Given the description of an element on the screen output the (x, y) to click on. 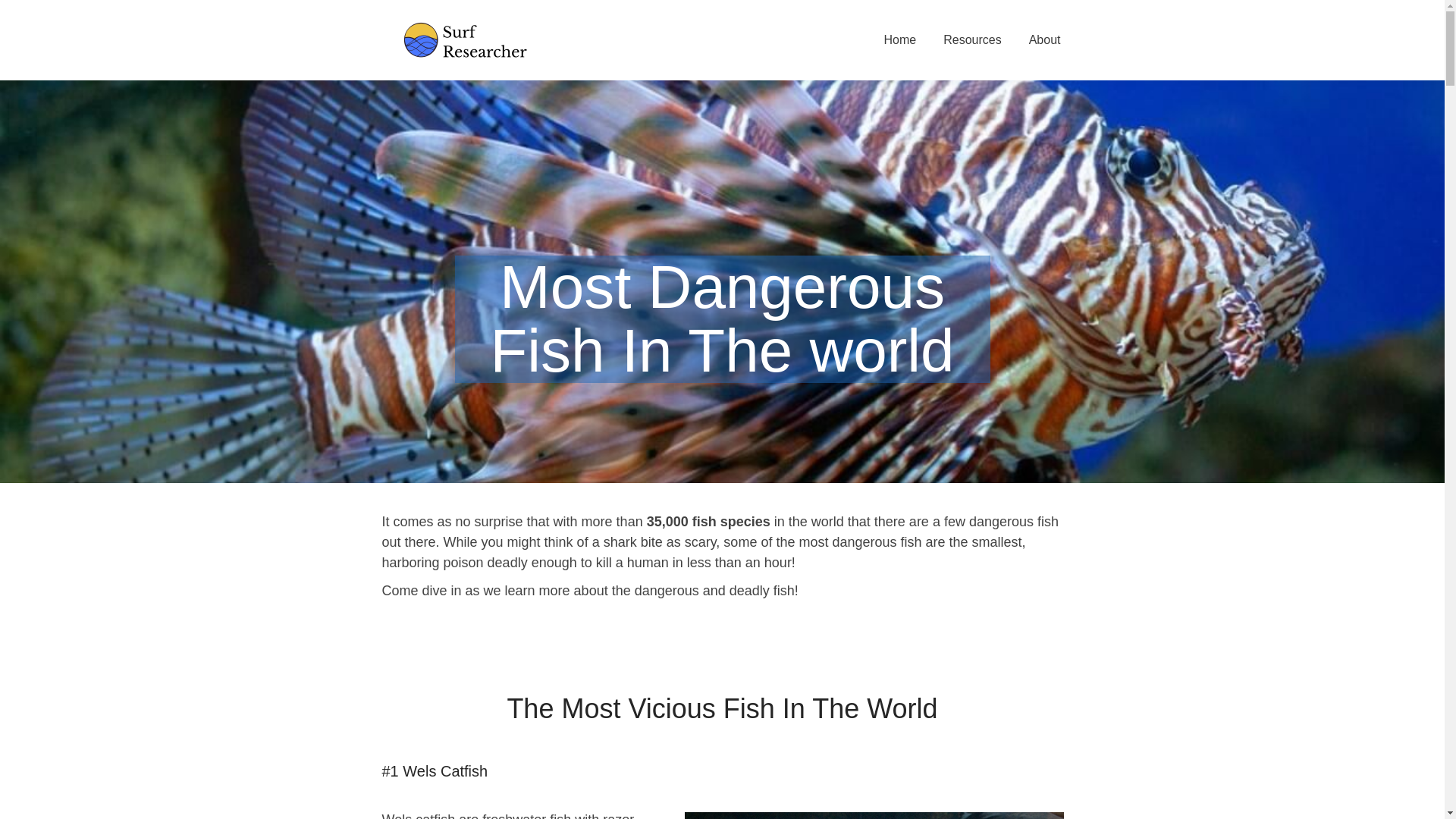
About (1045, 39)
Wels Catfish (873, 815)
Resources (972, 39)
Home (900, 39)
